Given the description of an element on the screen output the (x, y) to click on. 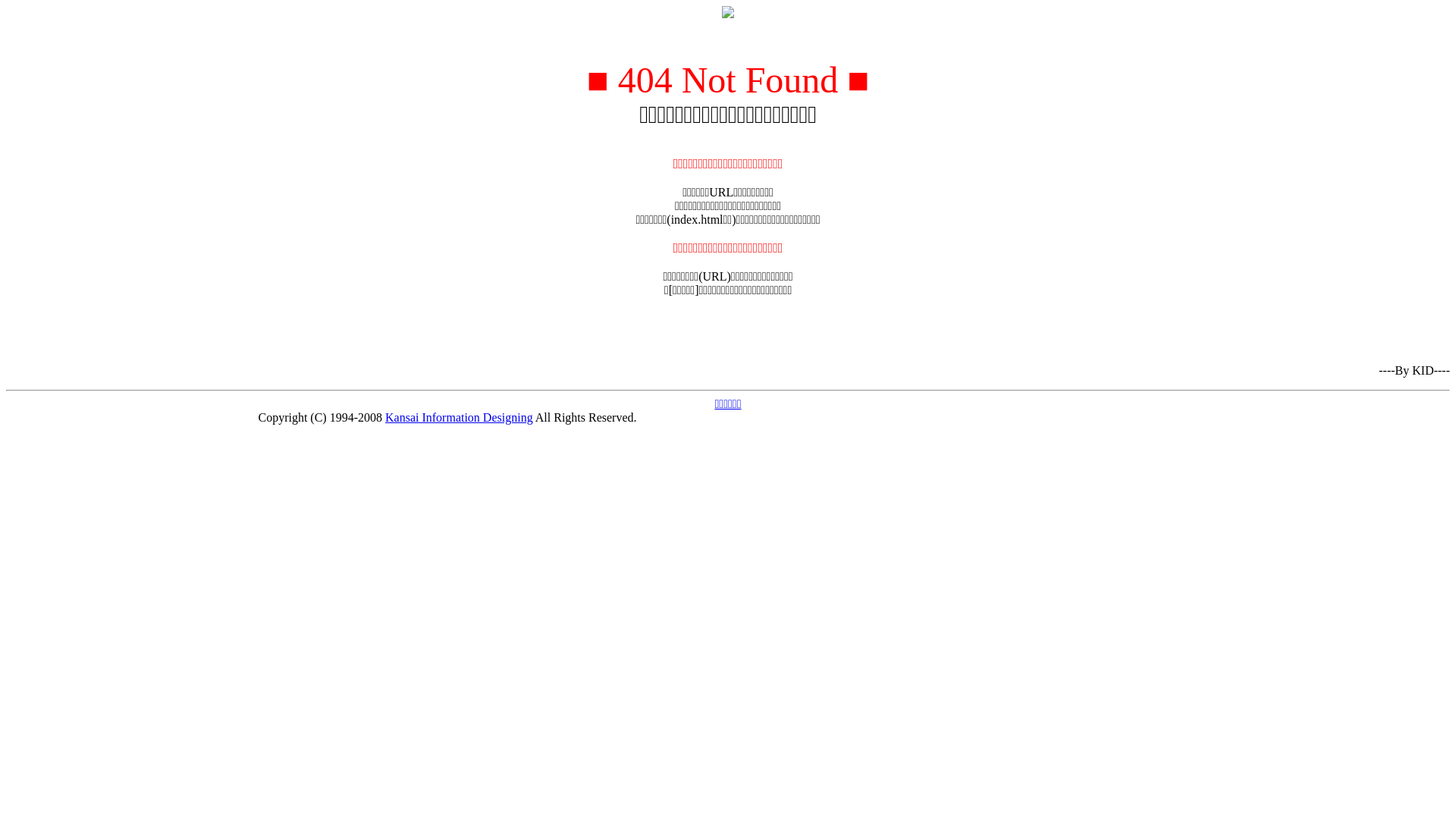
Kansai Information Designing Element type: text (459, 417)
